Given the description of an element on the screen output the (x, y) to click on. 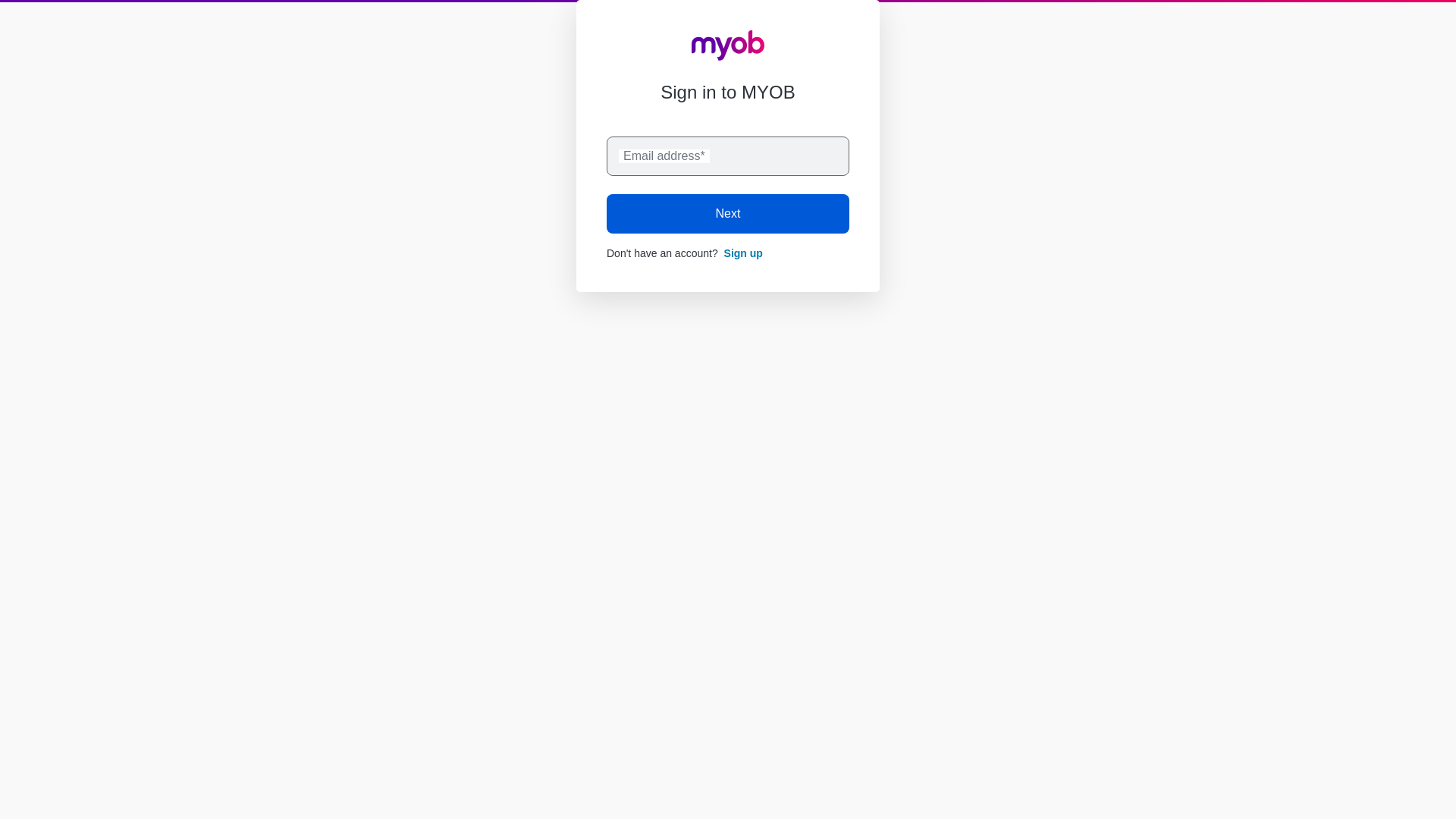
Sign up (742, 253)
Next (727, 213)
